Given the description of an element on the screen output the (x, y) to click on. 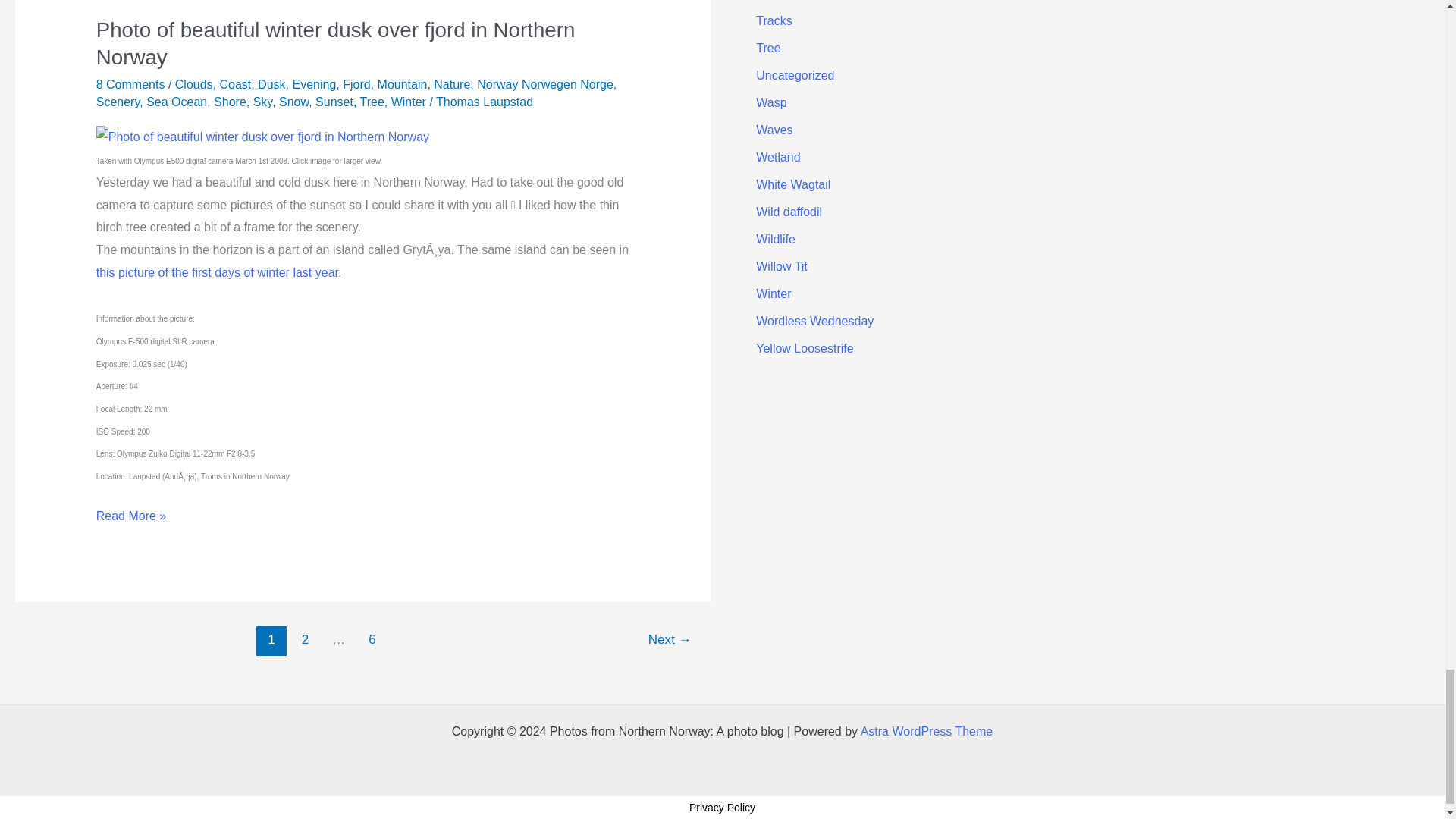
View all posts by Thomas Laupstad (483, 101)
Photo of beautiful winter dusk over fjord in Northern Norway (262, 136)
